Given the description of an element on the screen output the (x, y) to click on. 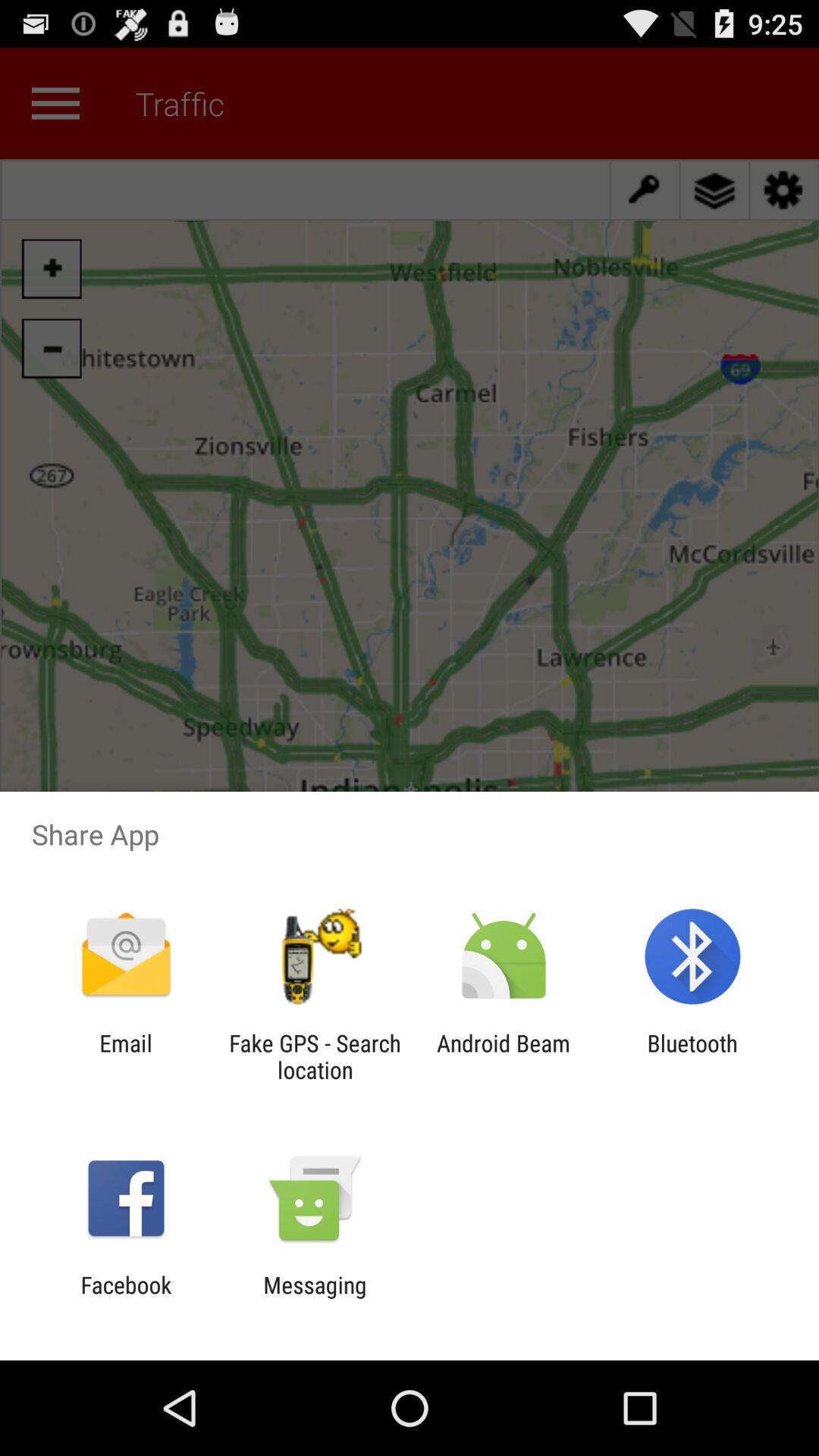
turn off the item to the right of facebook (314, 1298)
